Given the description of an element on the screen output the (x, y) to click on. 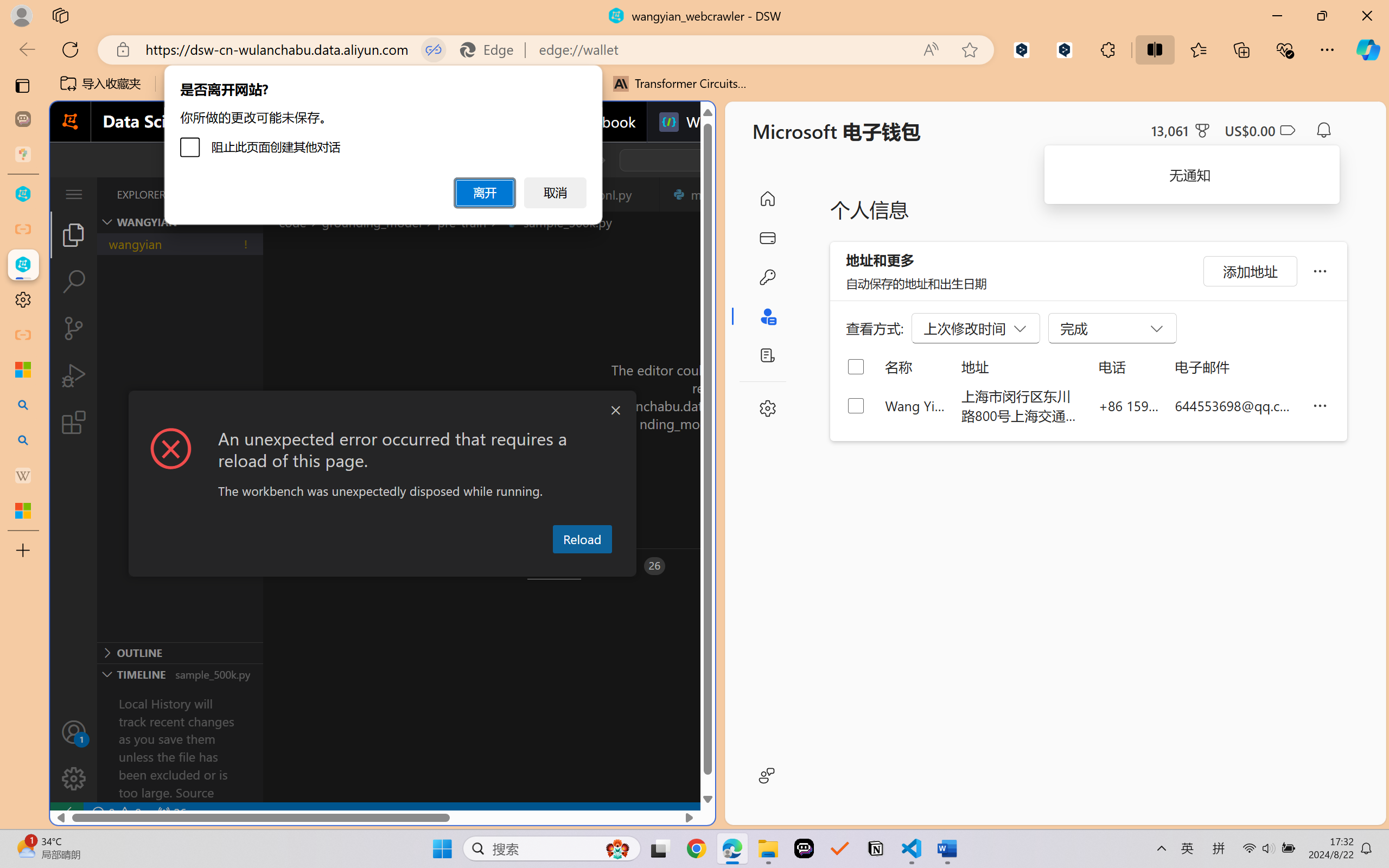
Copilot (Ctrl+Shift+.) (1368, 49)
Class: menubar compact overflow-menu-only (73, 194)
No Problems (115, 812)
Class: ___1lmltc5 f1agt3bx f12qytpq (1286, 130)
Source Control (Ctrl+Shift+G) (73, 328)
Microsoft Cashback - US$0.00 (1259, 129)
